Given the description of an element on the screen output the (x, y) to click on. 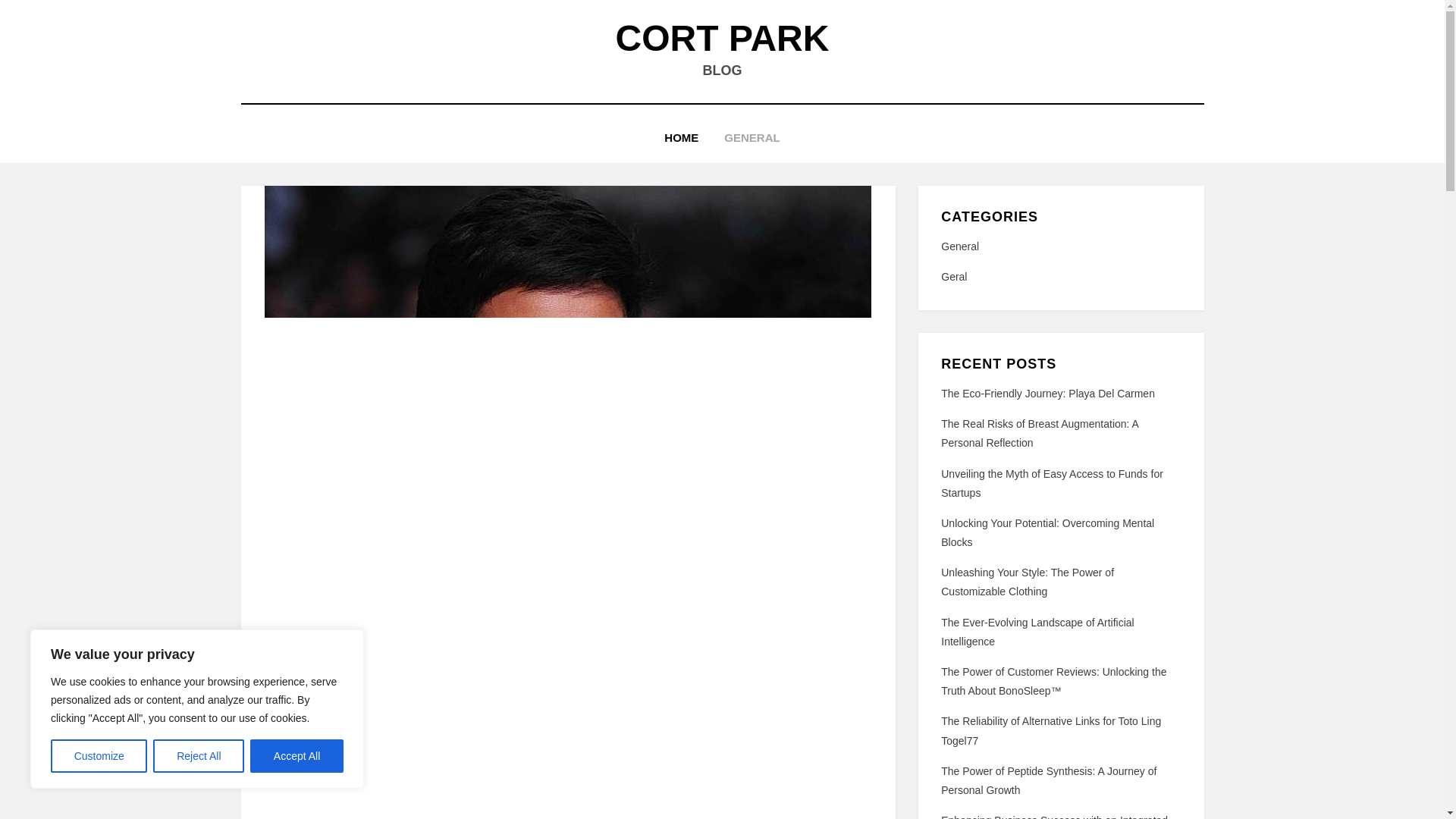
Geral (1060, 276)
Reject All (198, 756)
Unleashing Your Style: The Power of Customizable Clothing (1026, 581)
The Real Risks of Breast Augmentation: A Personal Reflection (1039, 432)
Unlocking Your Potential: Overcoming Mental Blocks (1047, 531)
Cort Park (722, 38)
Customize (98, 756)
Accept All (296, 756)
GENERAL (751, 137)
General (1060, 246)
The Eco-Friendly Journey: Playa Del Carmen (1047, 393)
HOME (680, 137)
CORT PARK (722, 38)
Unveiling the Myth of Easy Access to Funds for Startups (1051, 481)
